Given the description of an element on the screen output the (x, y) to click on. 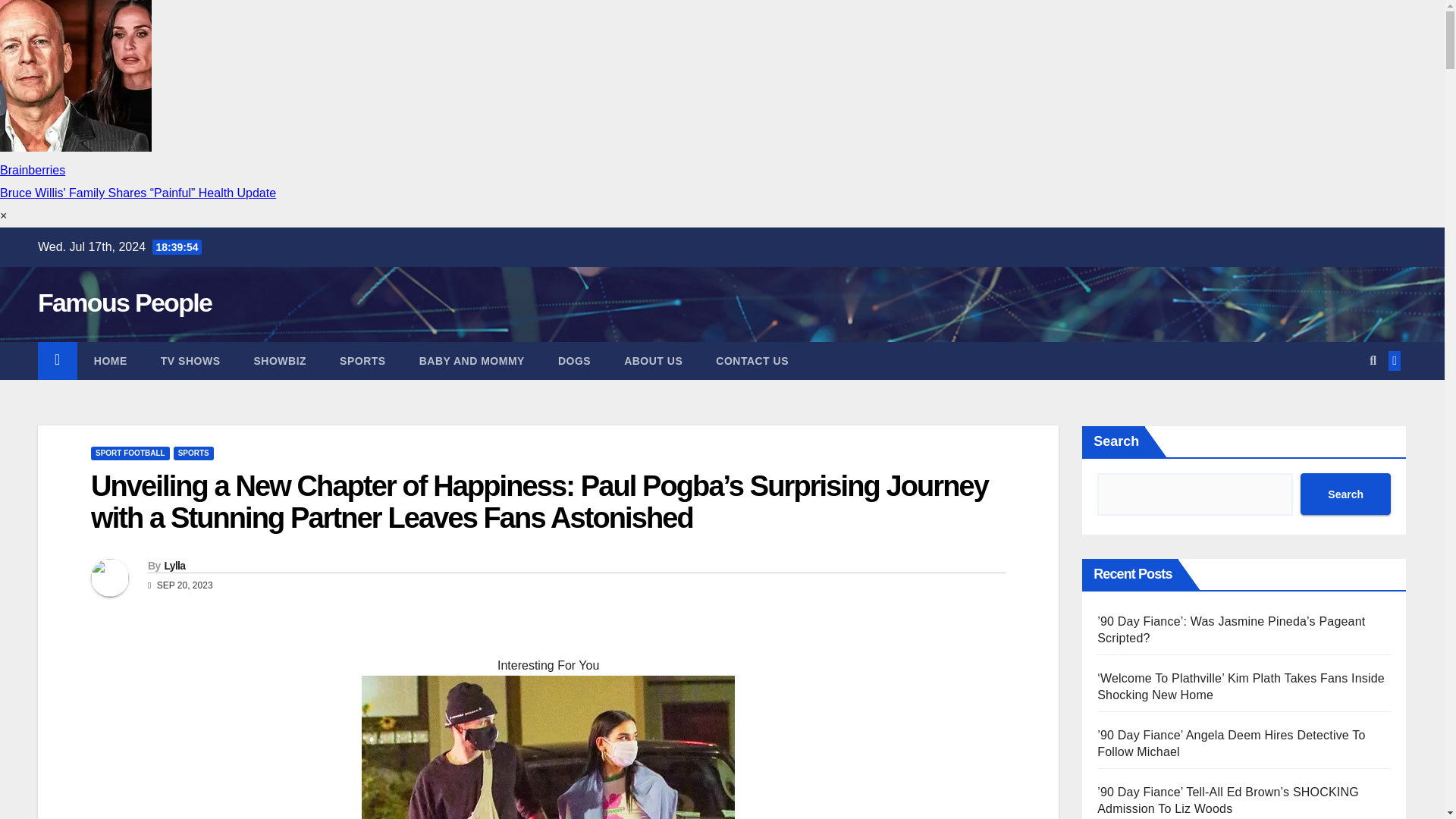
Lylla (173, 565)
SHOWBIZ (279, 361)
Famous People (124, 302)
CONTACT US (751, 361)
Sports (363, 361)
SPORT FOOTBALL (130, 453)
SPORTS (193, 453)
BABY AND MOMMY (472, 361)
TV SHOWS (190, 361)
HOME (110, 361)
Baby and Mommy (472, 361)
TV Shows (190, 361)
Home (110, 361)
Contact Us (751, 361)
ABOUT US (652, 361)
